Given the description of an element on the screen output the (x, y) to click on. 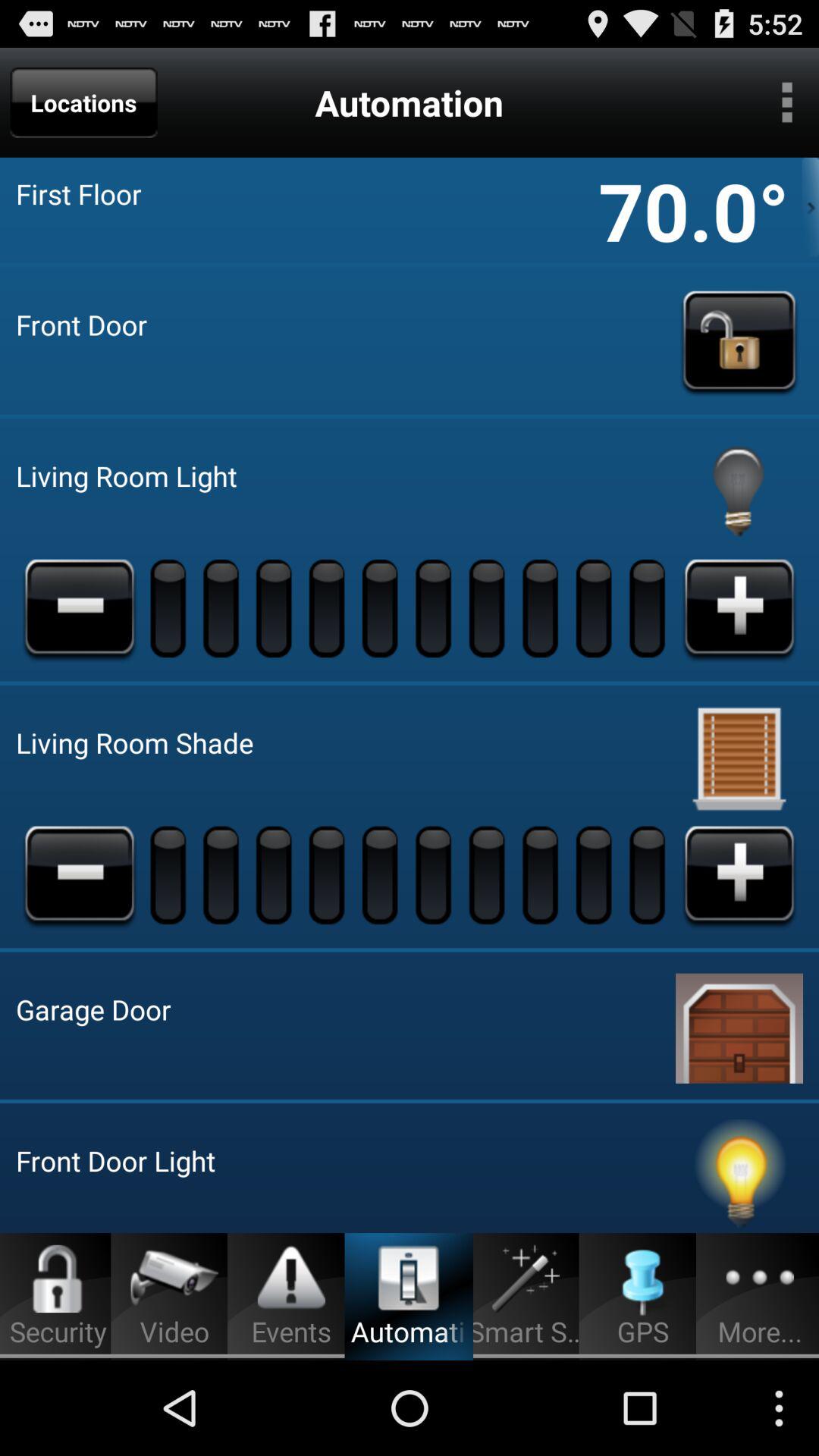
increase light brightness (739, 607)
